Given the description of an element on the screen output the (x, y) to click on. 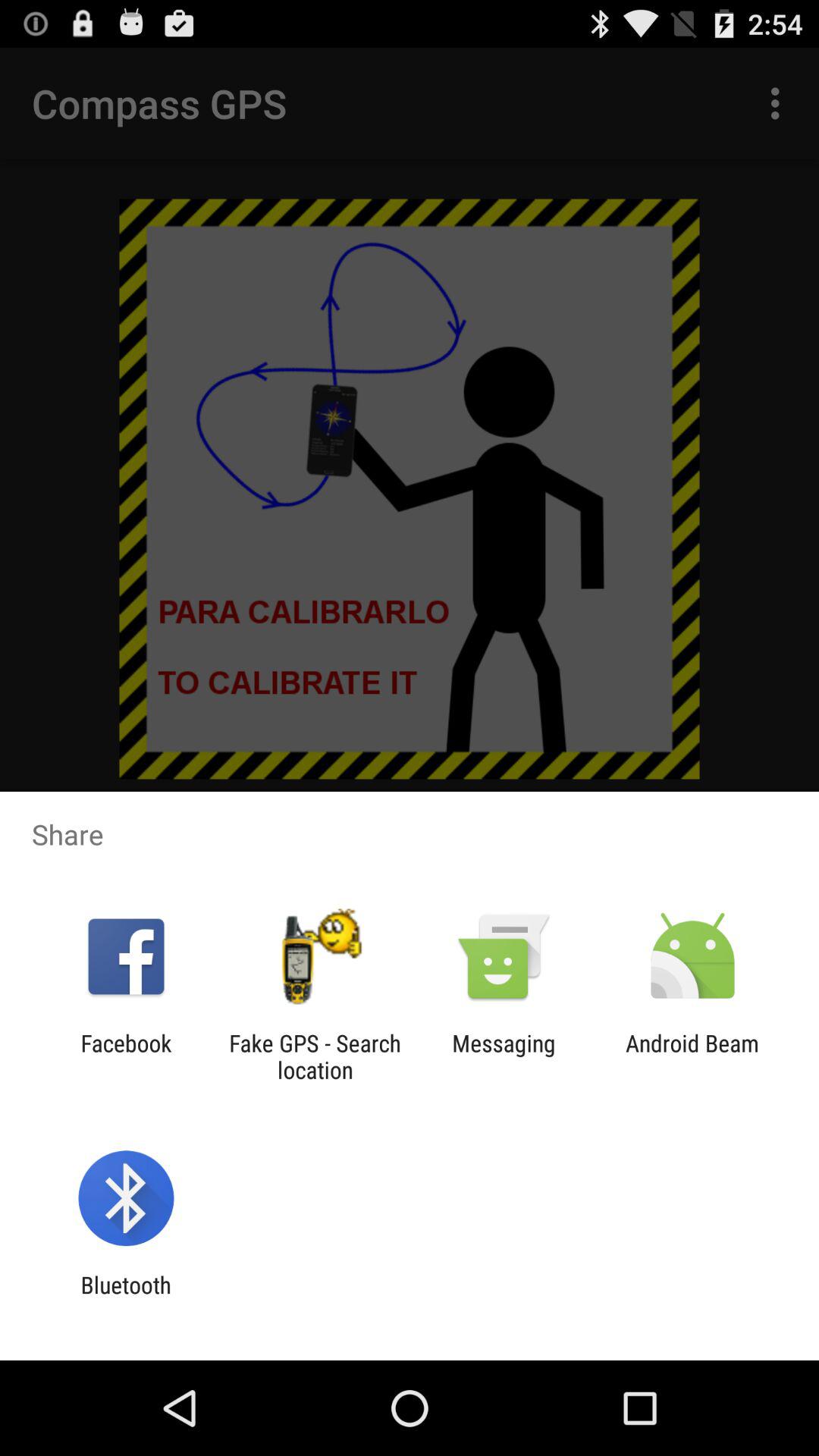
turn on the messaging app (503, 1056)
